Given the description of an element on the screen output the (x, y) to click on. 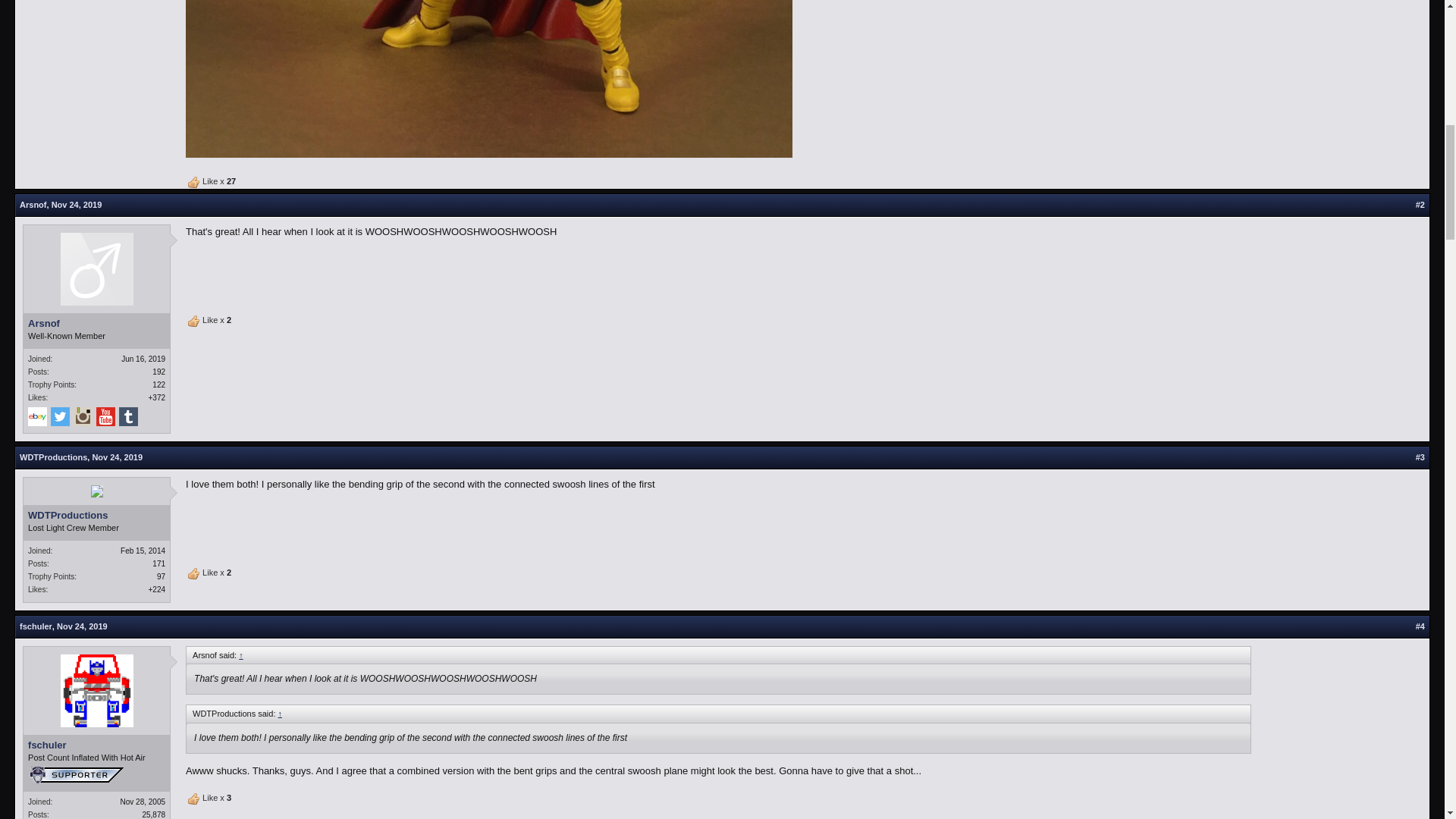
192 (158, 371)
122 (158, 384)
Permalink (75, 204)
Nov 24, 2019 (116, 456)
Arsnof (33, 204)
Permalink (116, 456)
Nov 24, 2019 (75, 204)
Like (193, 573)
WDTProductions (53, 456)
Like (193, 799)
